Given the description of an element on the screen output the (x, y) to click on. 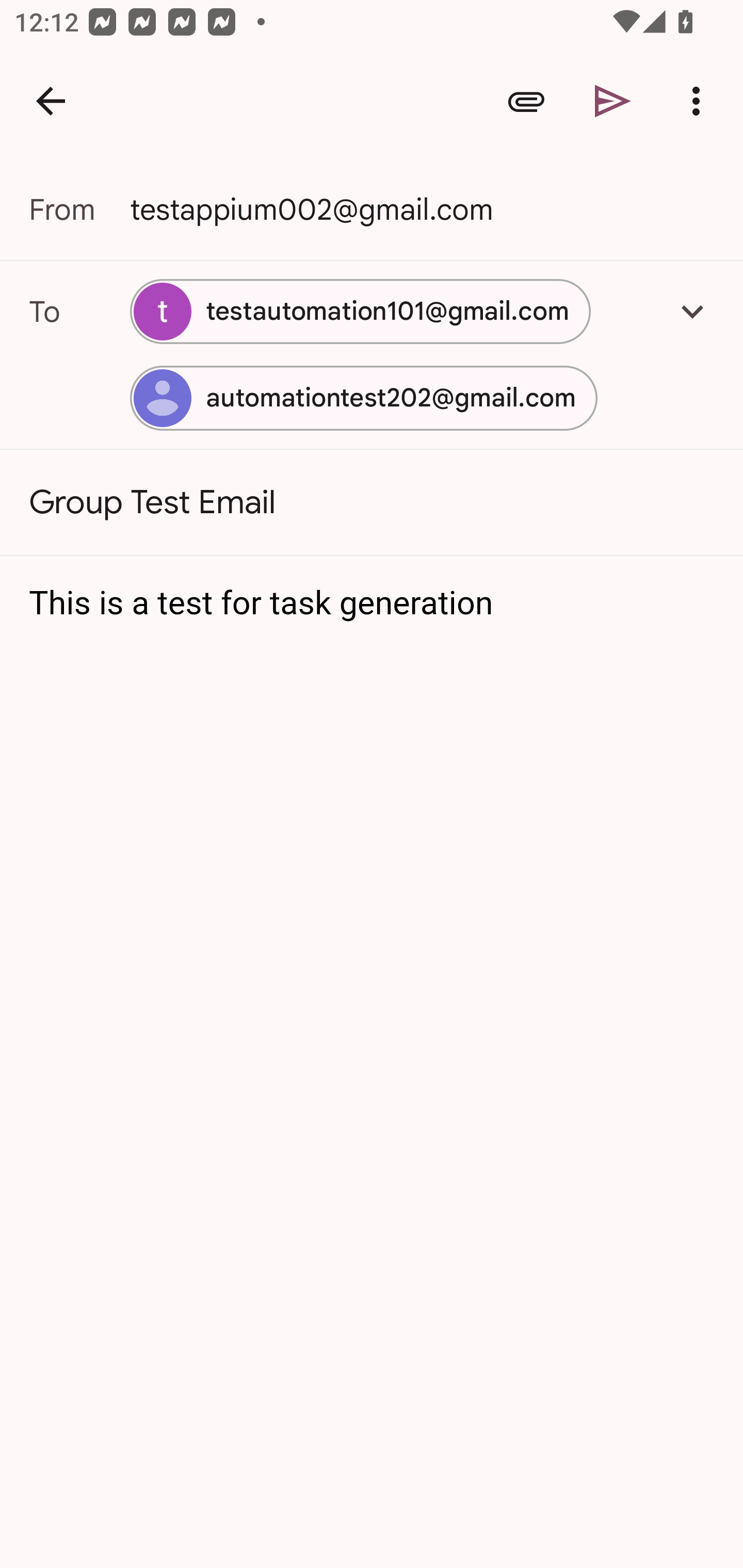
Navigate up (50, 101)
Attach file (525, 101)
Send (612, 101)
More options (699, 101)
From (79, 209)
Add Cc/Bcc (692, 311)
Group Test Email (371, 502)
This is a test for task generation (372, 603)
